Given the description of an element on the screen output the (x, y) to click on. 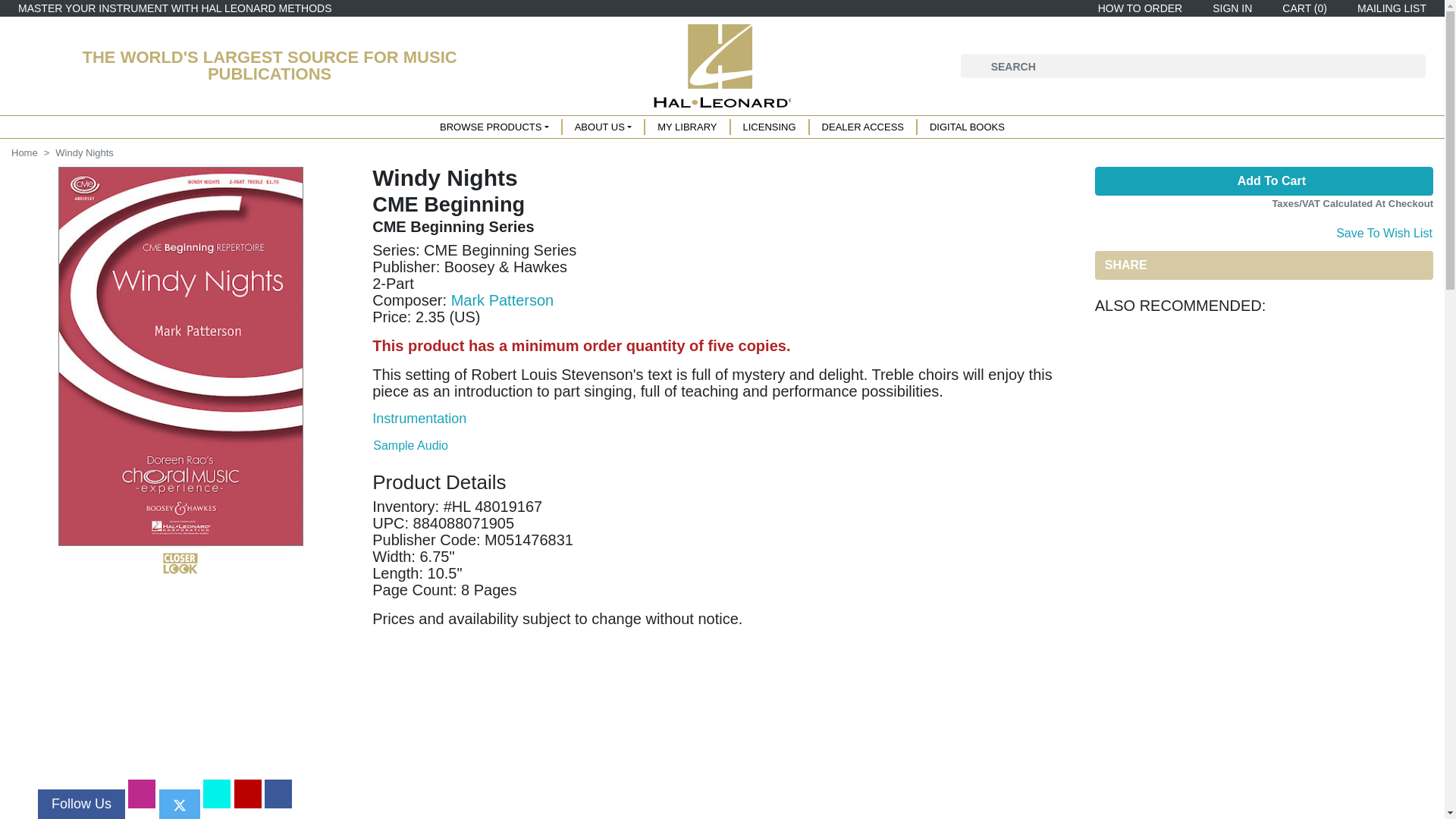
Add to Cart (1263, 181)
HOW TO ORDER (1137, 8)
SIGN IN (1229, 8)
Closer Look (180, 563)
Add to Wish List (1383, 231)
MASTER YOUR INSTRUMENT WITH HAL LEONARD METHODS (174, 8)
MAILING LIST (1388, 8)
